Given the description of an element on the screen output the (x, y) to click on. 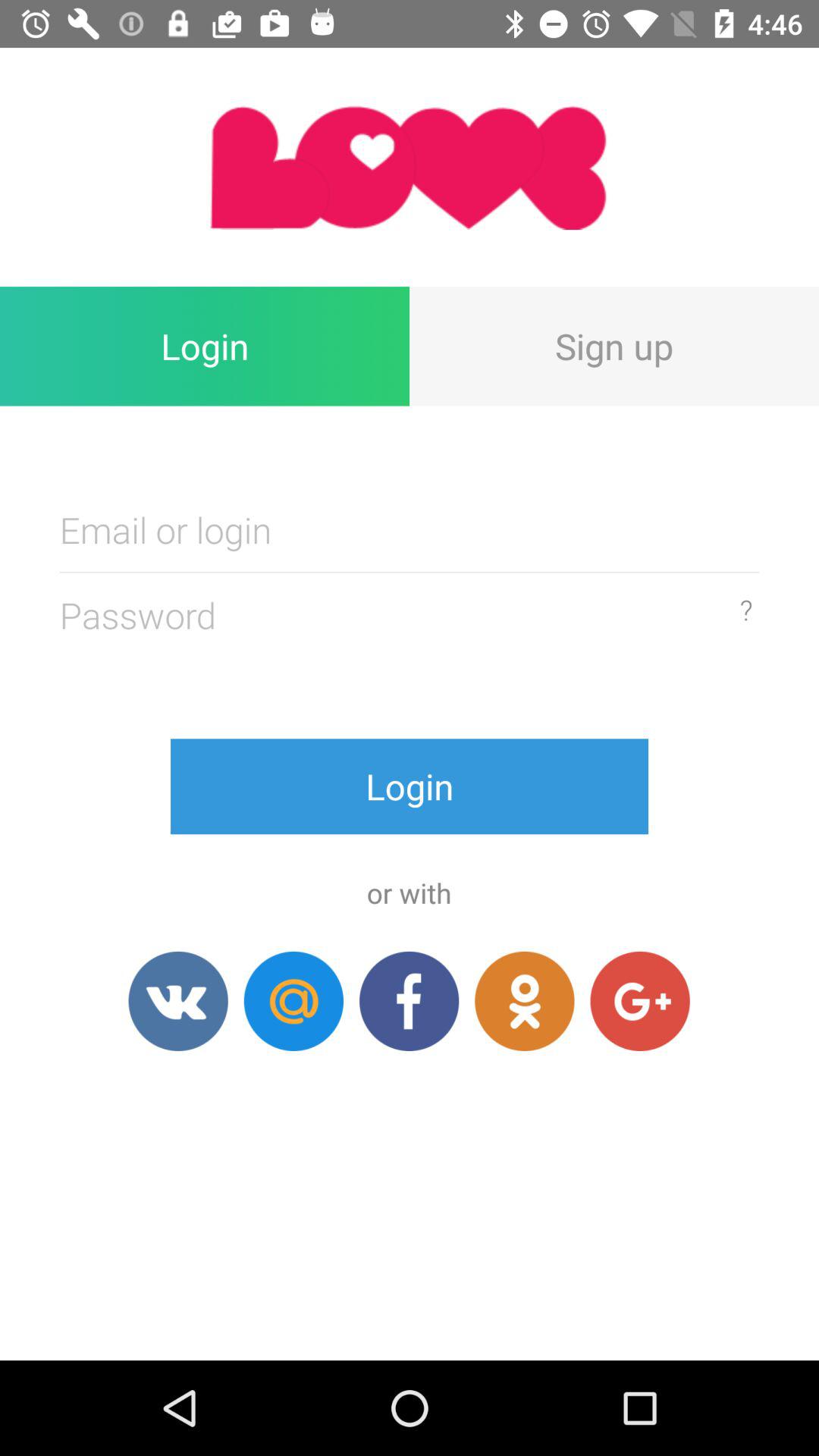
press button below login (293, 1001)
